Given the description of an element on the screen output the (x, y) to click on. 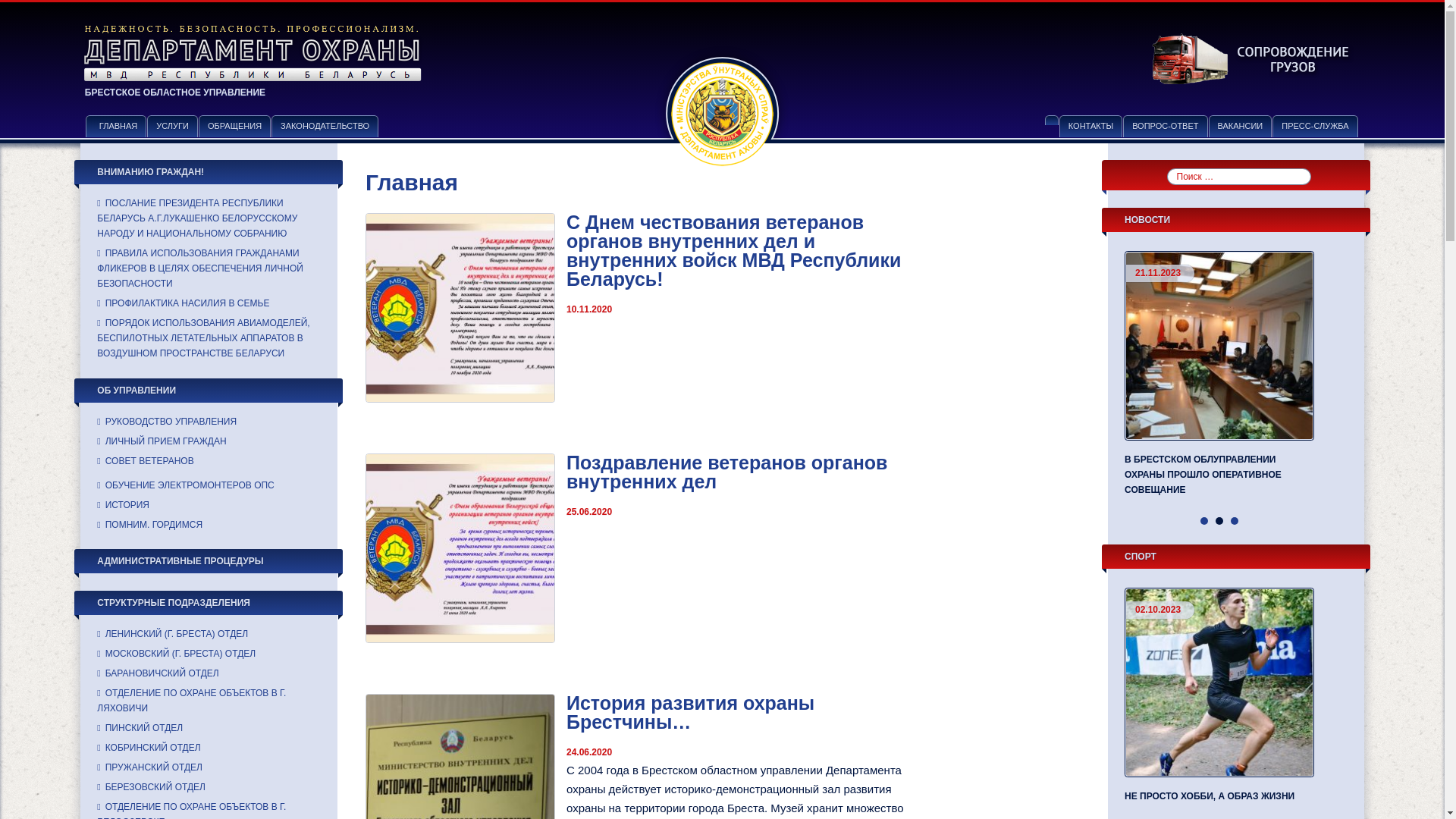
1 Element type: text (1204, 520)
2 Element type: text (1219, 520)
3 Element type: text (1234, 520)
